Given the description of an element on the screen output the (x, y) to click on. 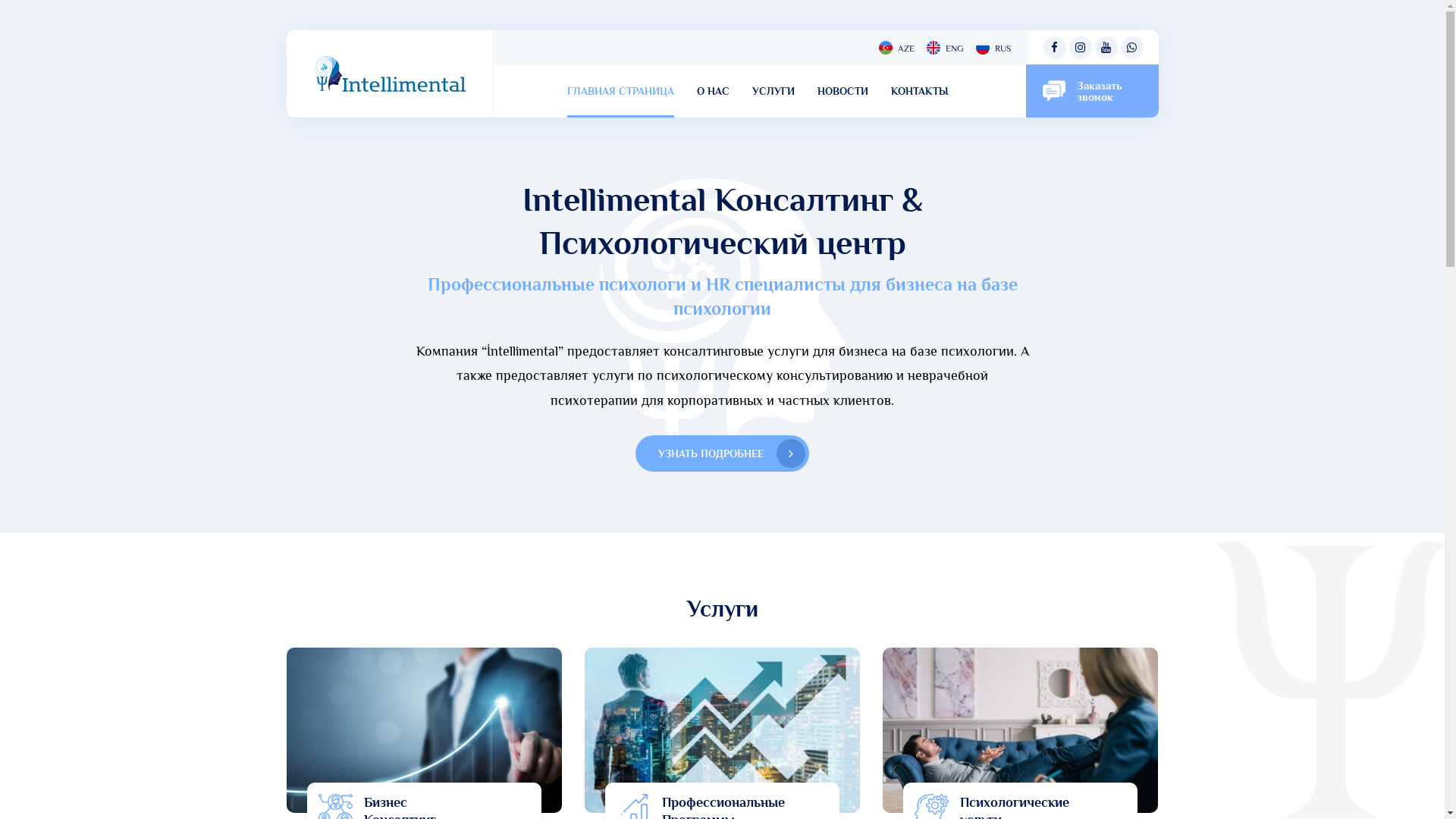
ENG Element type: text (944, 47)
RUS Element type: text (992, 47)
AZE Element type: text (895, 47)
